Given the description of an element on the screen output the (x, y) to click on. 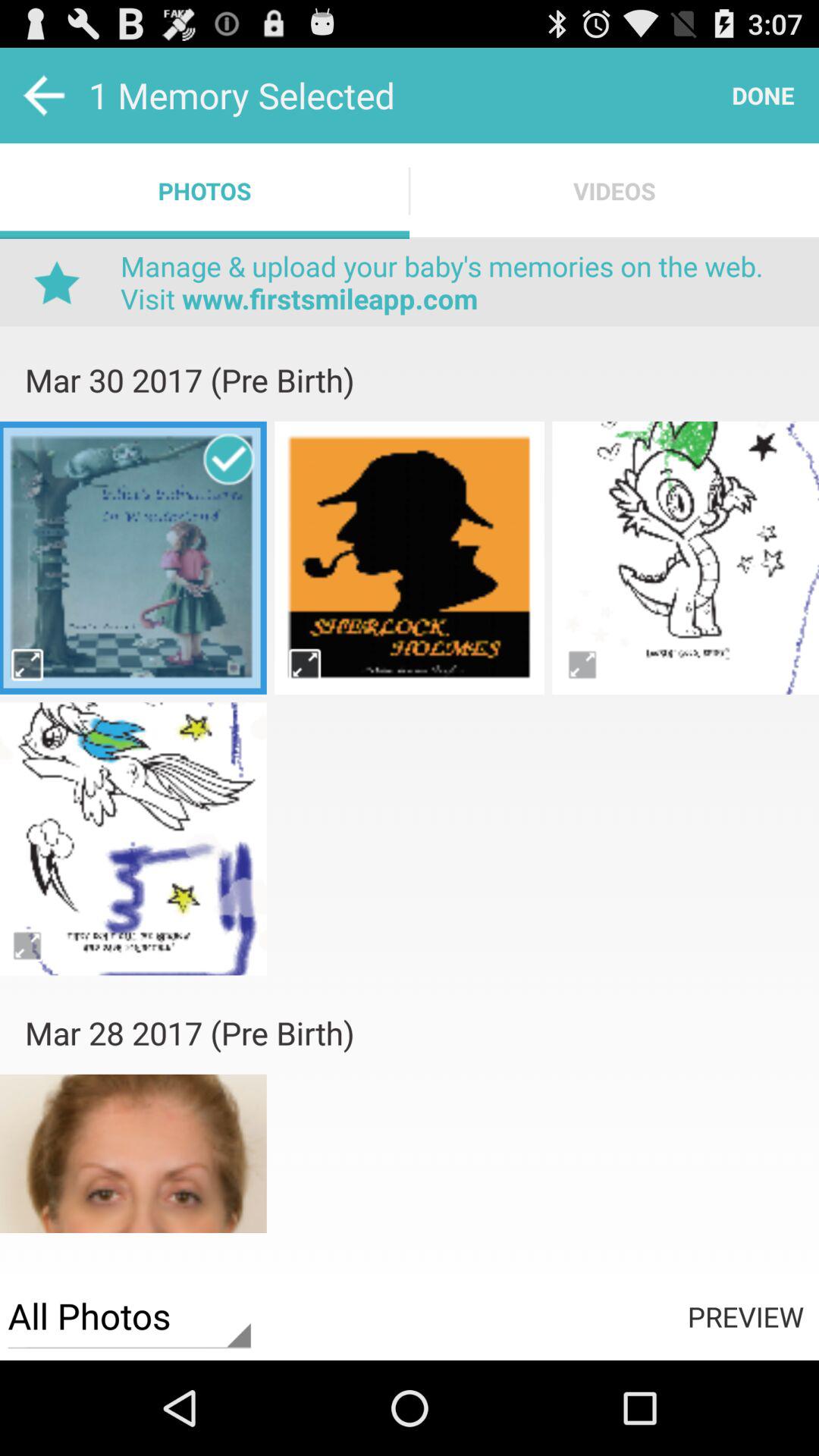
photes (409, 557)
